Given the description of an element on the screen output the (x, y) to click on. 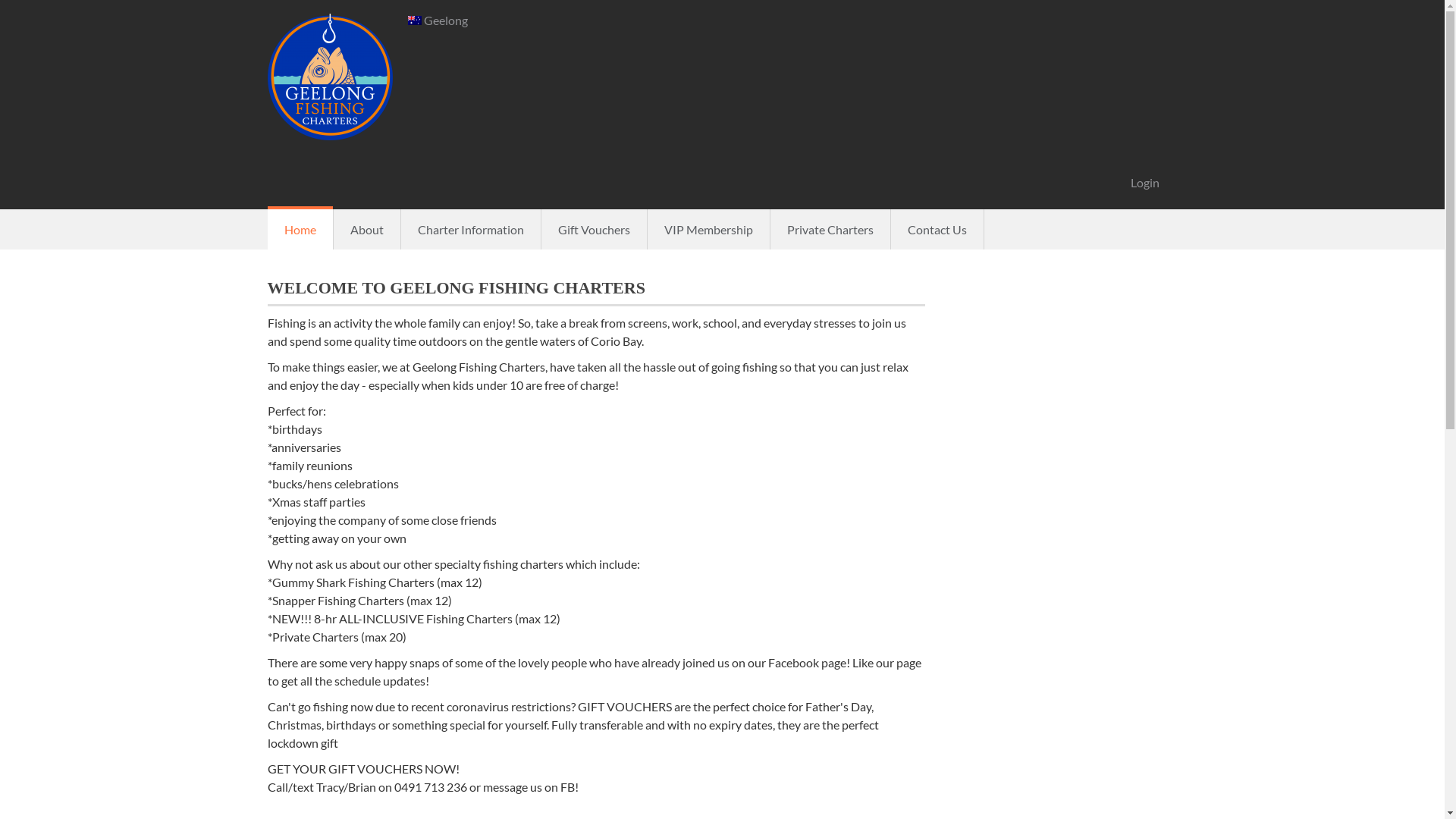
Contact Us Element type: text (936, 229)
Geelong Element type: text (436, 19)
Gift Vouchers Element type: text (593, 229)
VIP Membership Element type: text (708, 229)
Home Element type: text (299, 229)
Geelong Fishing Charters Element type: hover (329, 76)
Login Element type: text (1143, 182)
About Element type: text (366, 229)
Private Charters Element type: text (830, 229)
Charter Information Element type: text (469, 229)
